Given the description of an element on the screen output the (x, y) to click on. 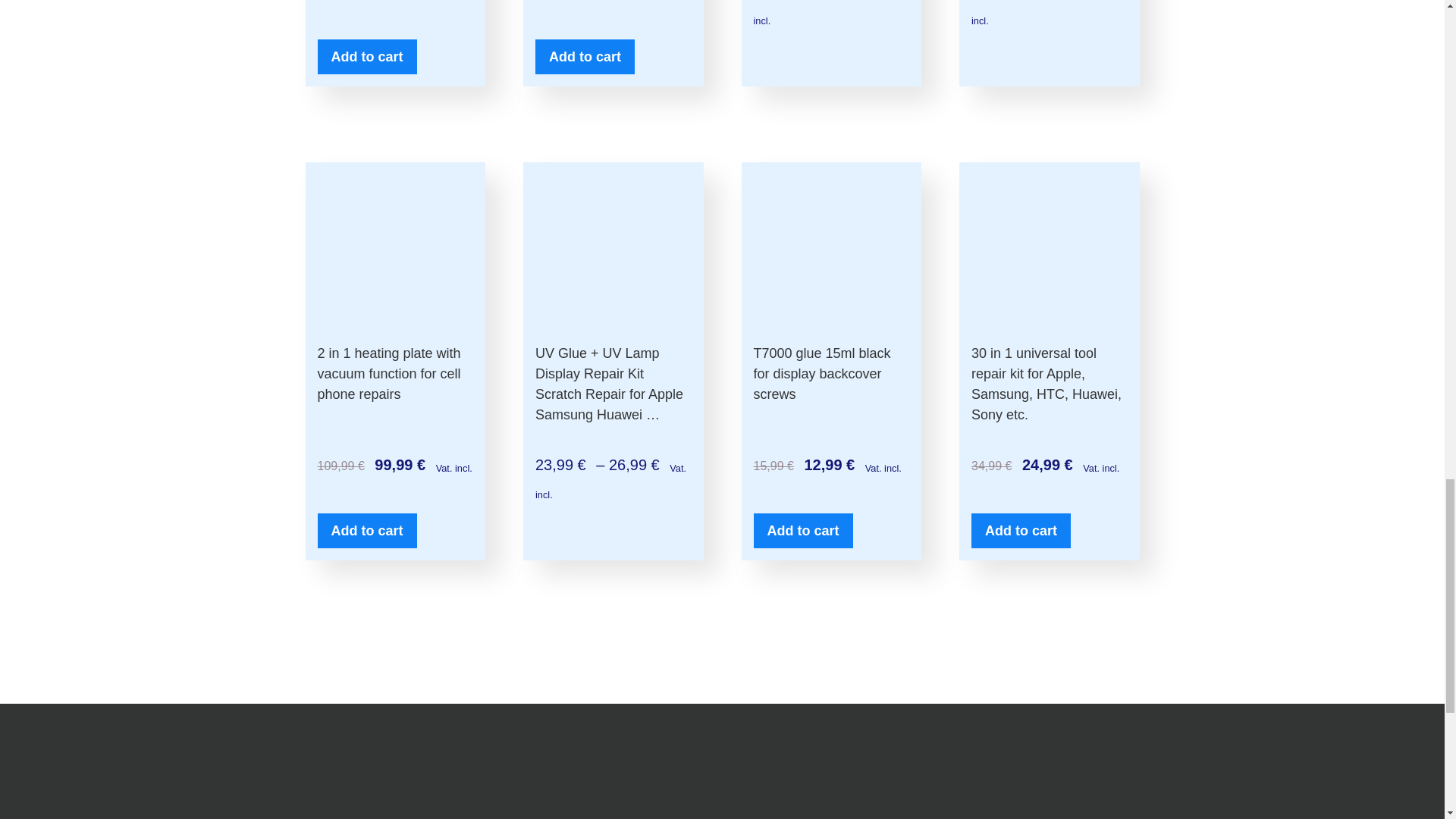
Add to cart (584, 56)
Add to cart (366, 56)
